Given the description of an element on the screen output the (x, y) to click on. 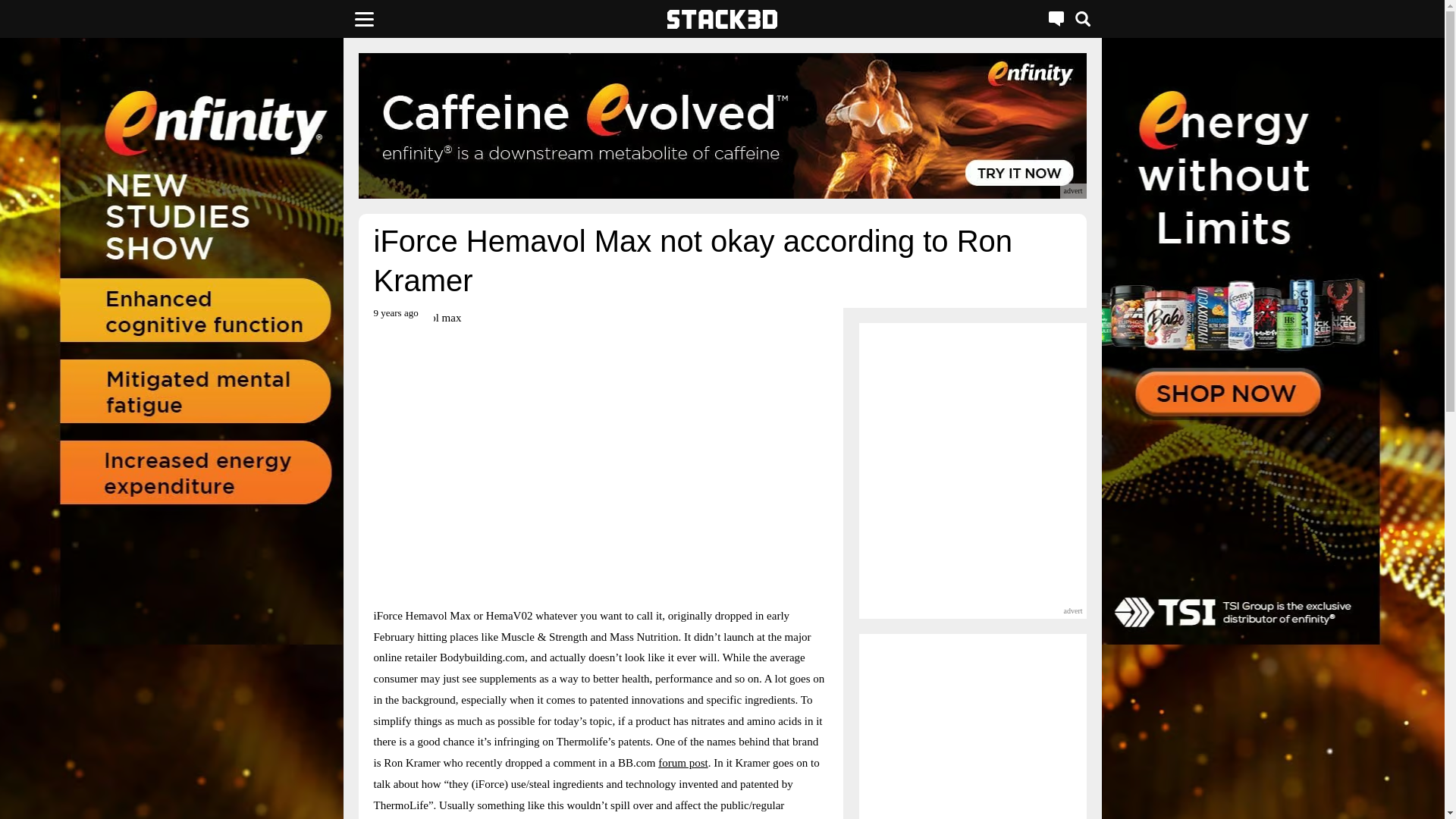
April 28th 2015 (395, 318)
forum post (682, 762)
